Given the description of an element on the screen output the (x, y) to click on. 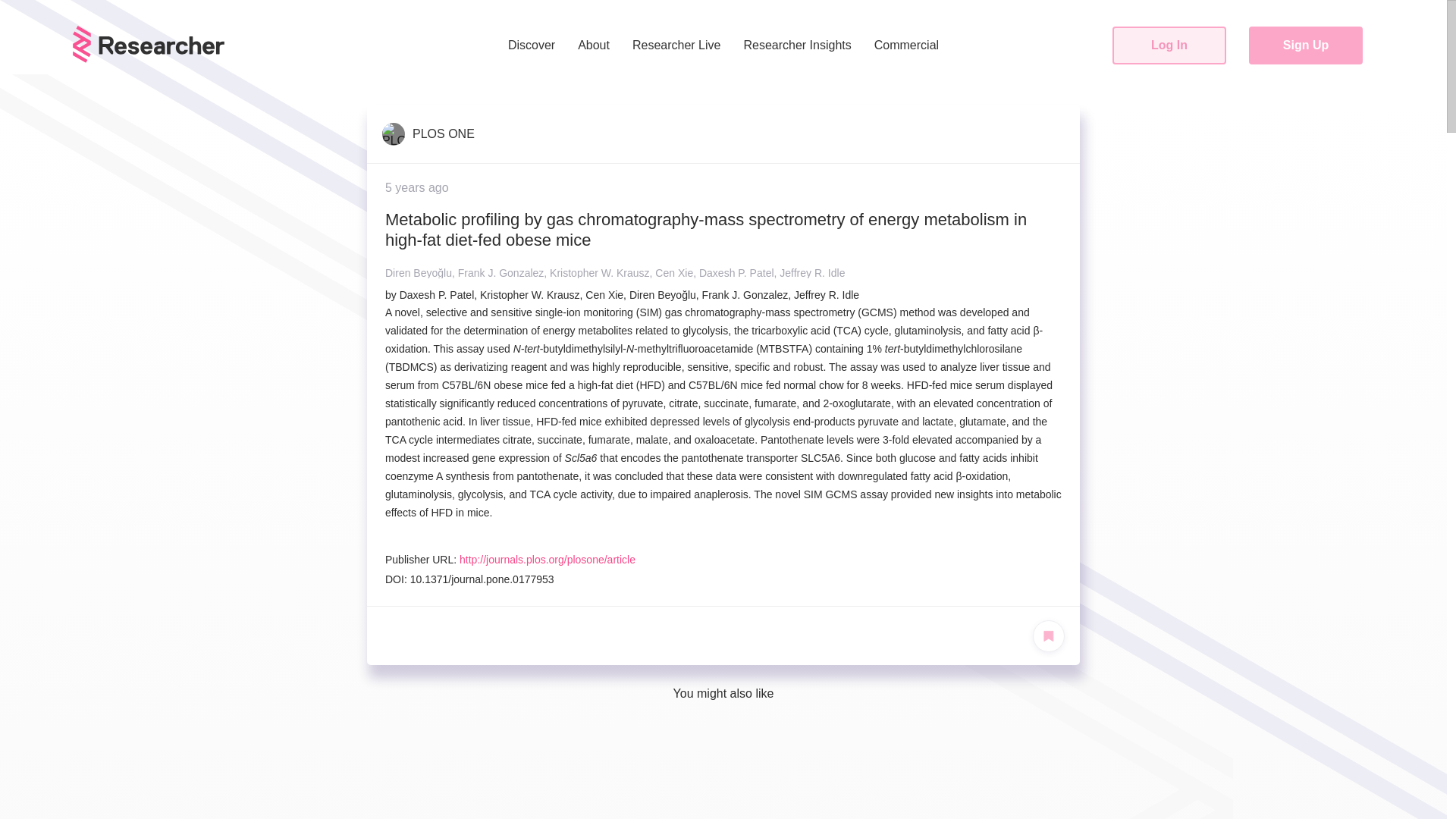
Researcher Live (676, 44)
About (593, 44)
Researcher Insights (797, 44)
Discover (531, 44)
PLOS ONE (427, 134)
Log In (1168, 45)
Log In (1168, 45)
Researcher: Home (148, 58)
Researcher: Home (148, 44)
Sign Up (1305, 45)
